Given the description of an element on the screen output the (x, y) to click on. 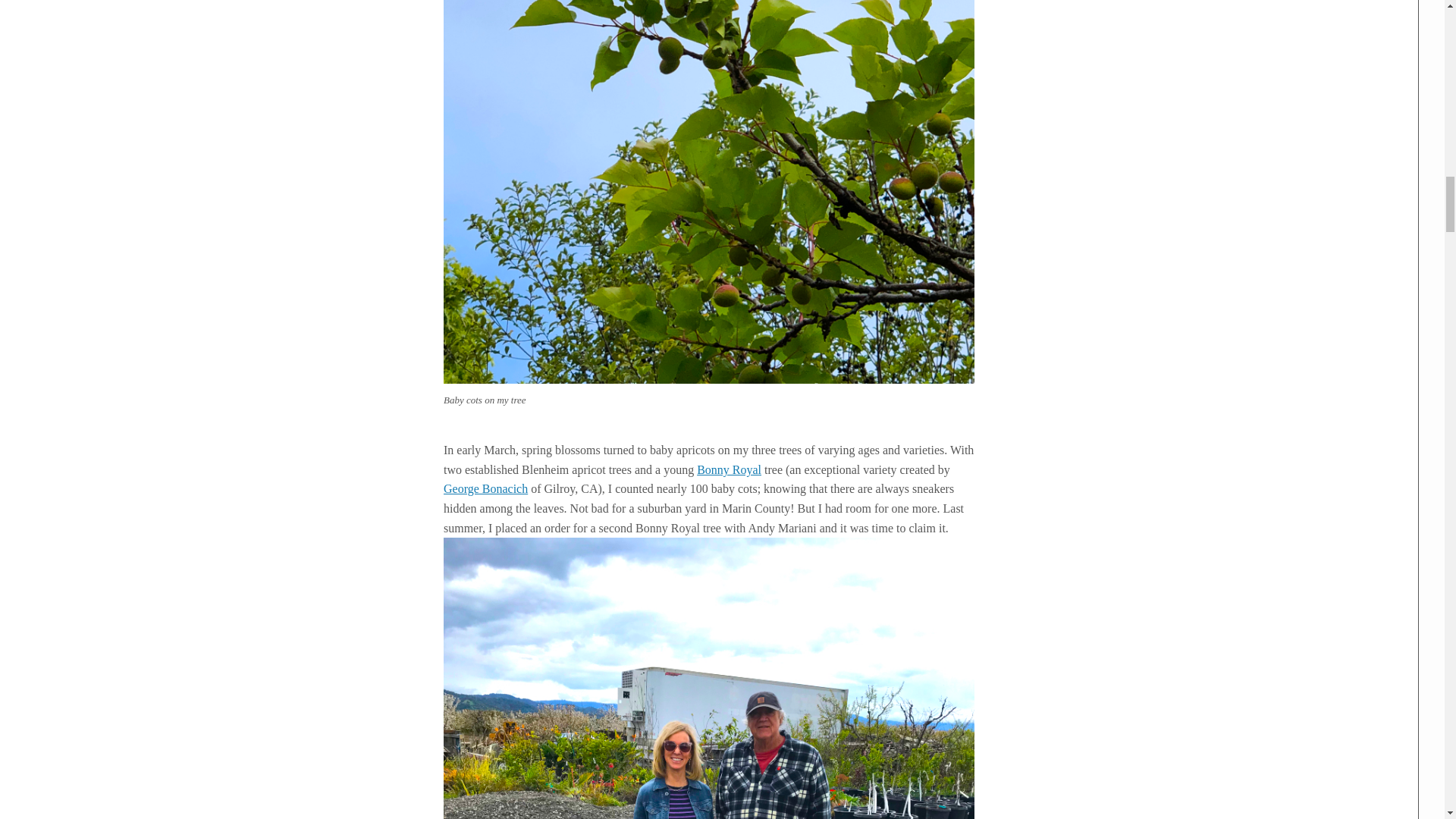
George Bonacich (485, 488)
Bonny Royal (729, 469)
